Given the description of an element on the screen output the (x, y) to click on. 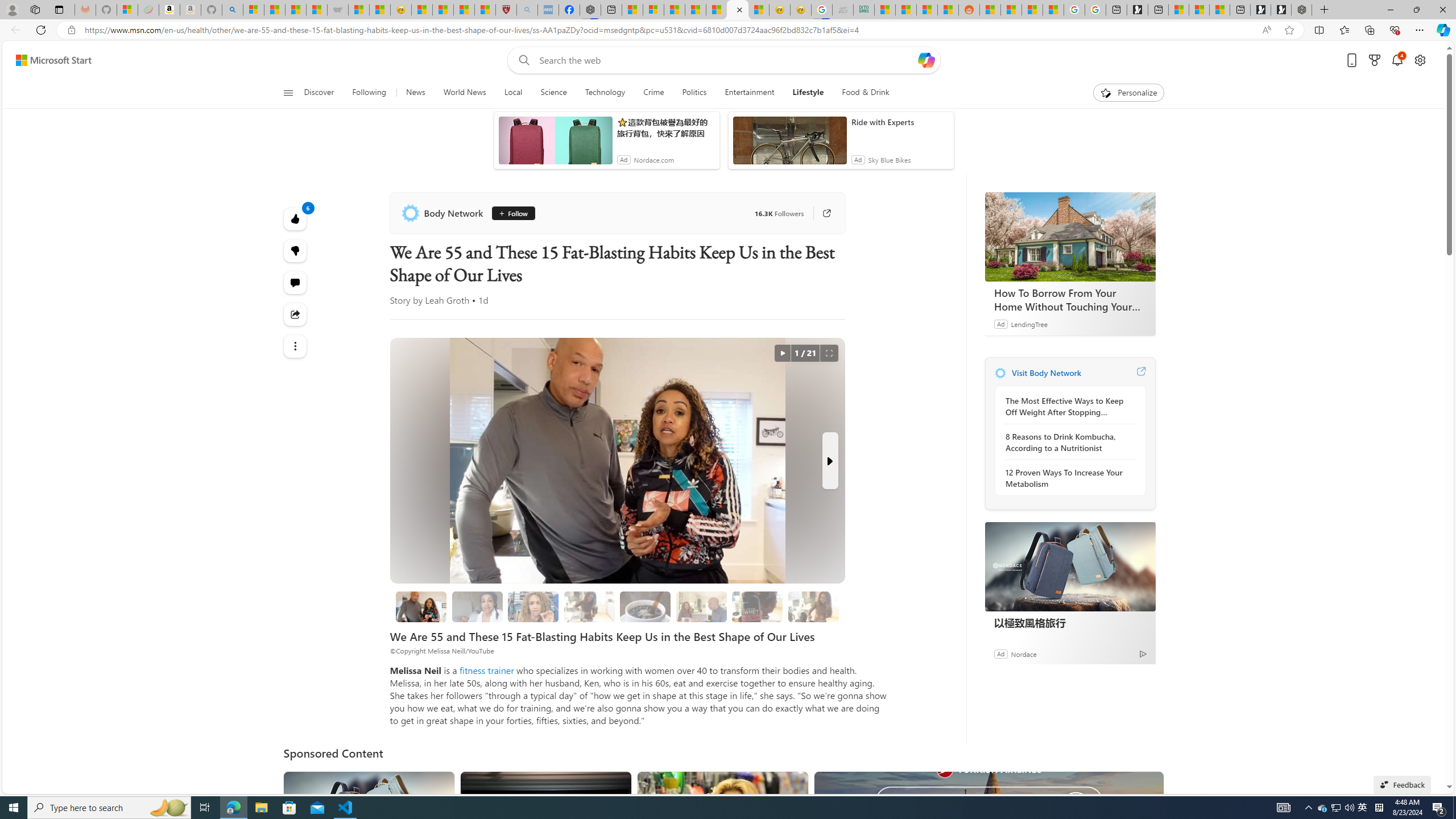
Next Slide (829, 460)
fitness trainer (486, 670)
2 They Use Protein Powder for Flavor (533, 606)
12 Proven Ways To Increase Your Metabolism (1066, 477)
Body Network (443, 212)
8 Be Mindful of Coffee (644, 606)
